Given the description of an element on the screen output the (x, y) to click on. 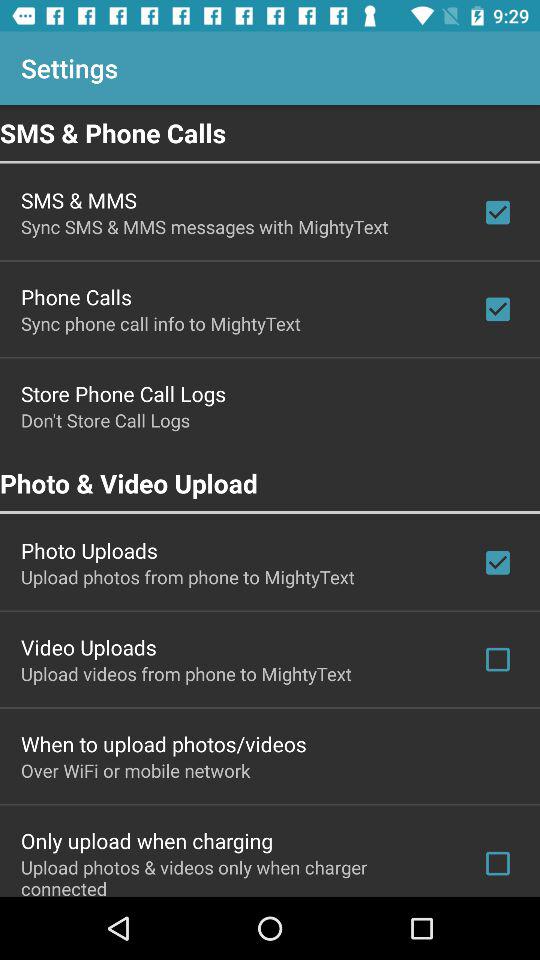
turn on photo uploads icon (89, 550)
